Given the description of an element on the screen output the (x, y) to click on. 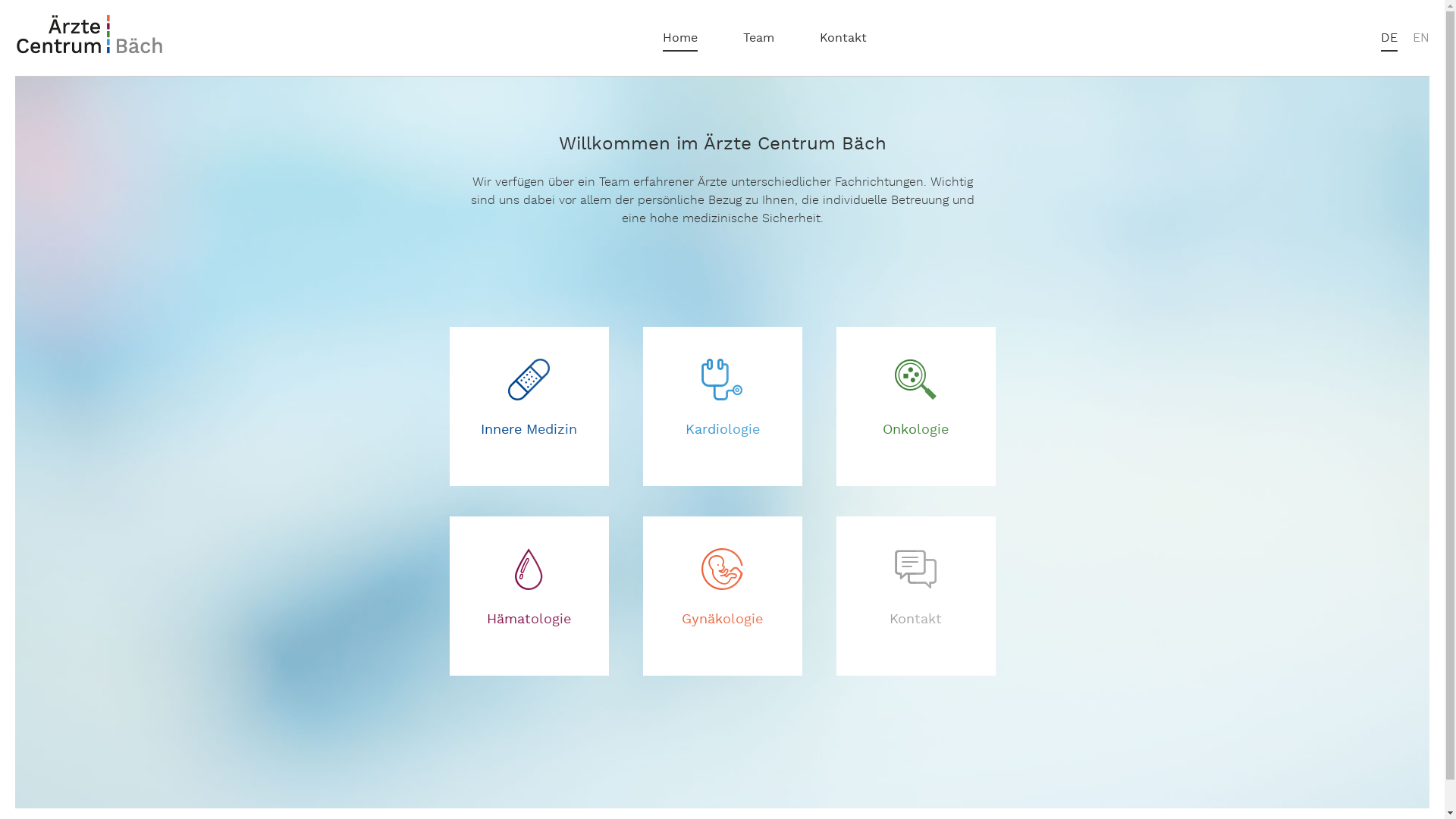
DE Element type: text (1388, 39)
Innere Medizin Element type: text (528, 406)
Kontakt Element type: text (914, 595)
Team Element type: text (758, 39)
EN Element type: text (1420, 39)
Onkologie Element type: text (914, 406)
Kontakt Element type: text (842, 39)
Home Element type: text (679, 39)
Kardiologie Element type: text (722, 406)
